Given the description of an element on the screen output the (x, y) to click on. 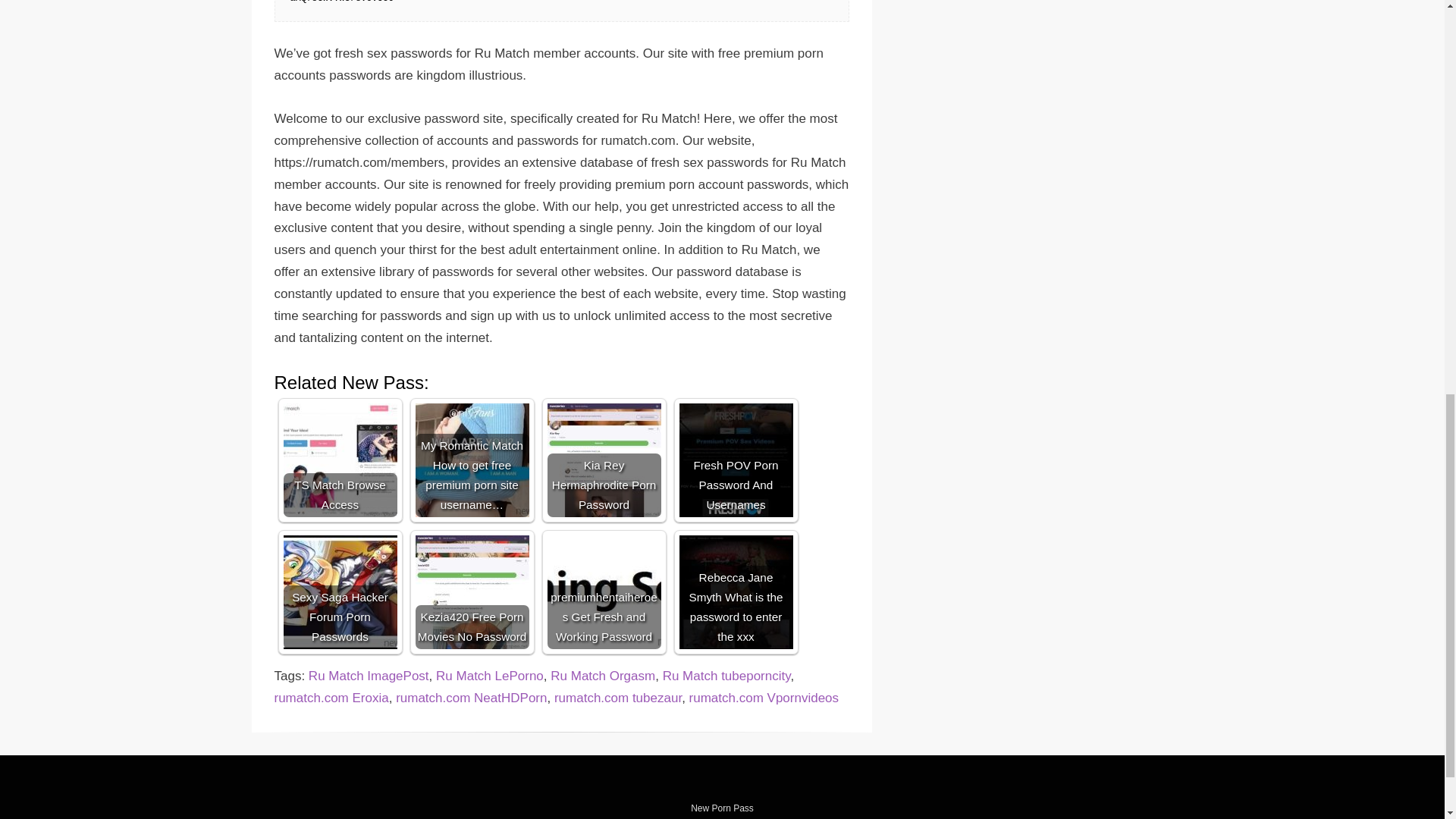
TS Match Browse Access (340, 459)
Sexy Saga Hacker Forum Porn Passwords (340, 592)
Ru Match LePorno (489, 676)
Sexy Saga Hacker Forum Porn Passwords (340, 592)
rumatch.com Eroxia (331, 698)
premiumhentaiheroes Get Fresh and Working Password (604, 592)
rumatch.com tubezaur (617, 698)
Kia Rey Hermaphrodite Porn Password (604, 459)
Kia Rey Hermaphrodite Porn Password (604, 459)
Kezia420 Free Porn Movies No Password (471, 592)
premiumhentaiheroes Get Fresh and Working Password (604, 592)
Ru Match Orgasm (602, 676)
Fresh POV Porn Password And Usernames (736, 459)
rumatch.com Vpornvideos (763, 698)
Fresh POV Porn Password And Usernames (736, 459)
